Given the description of an element on the screen output the (x, y) to click on. 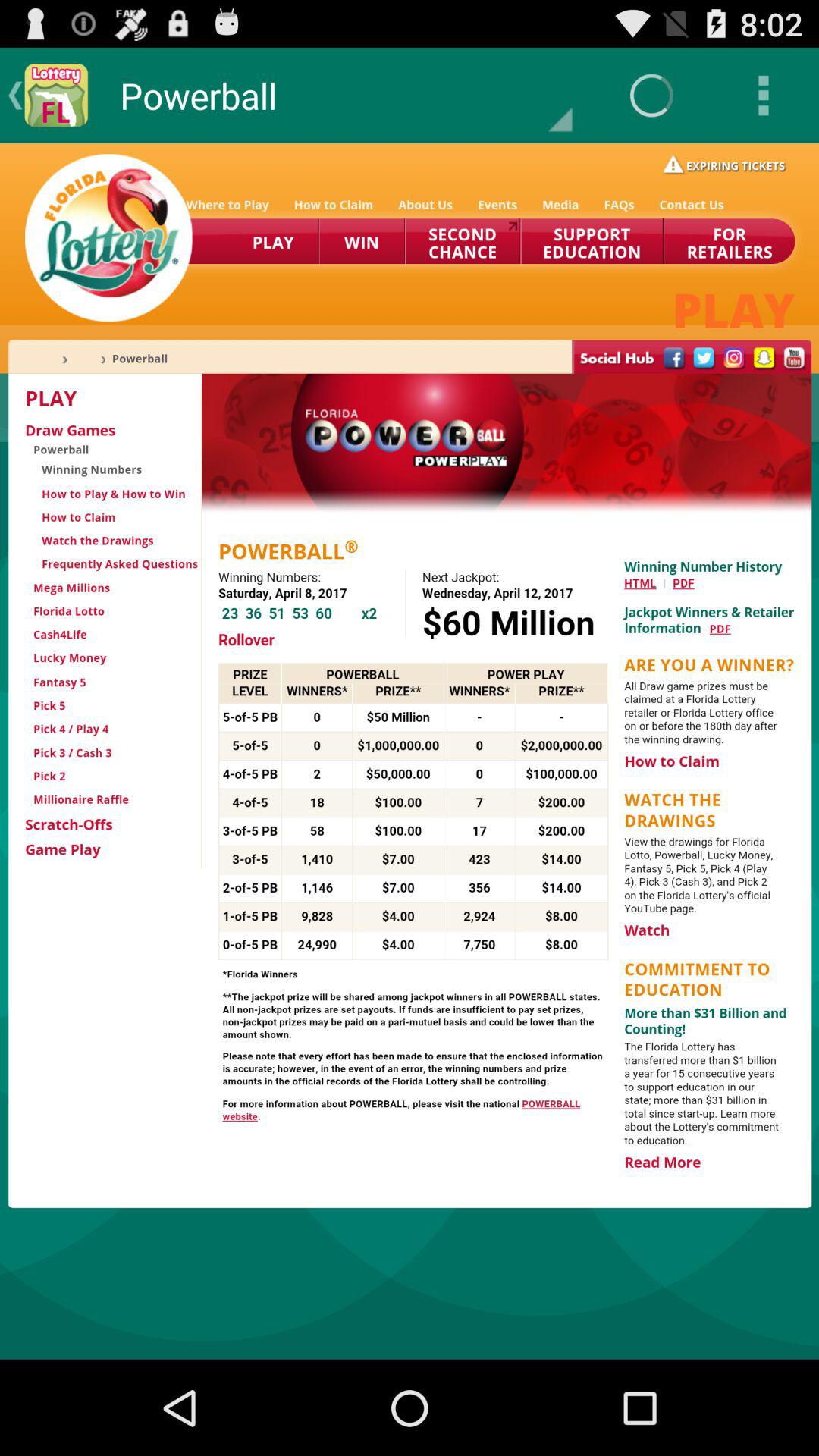
select image (409, 751)
